Given the description of an element on the screen output the (x, y) to click on. 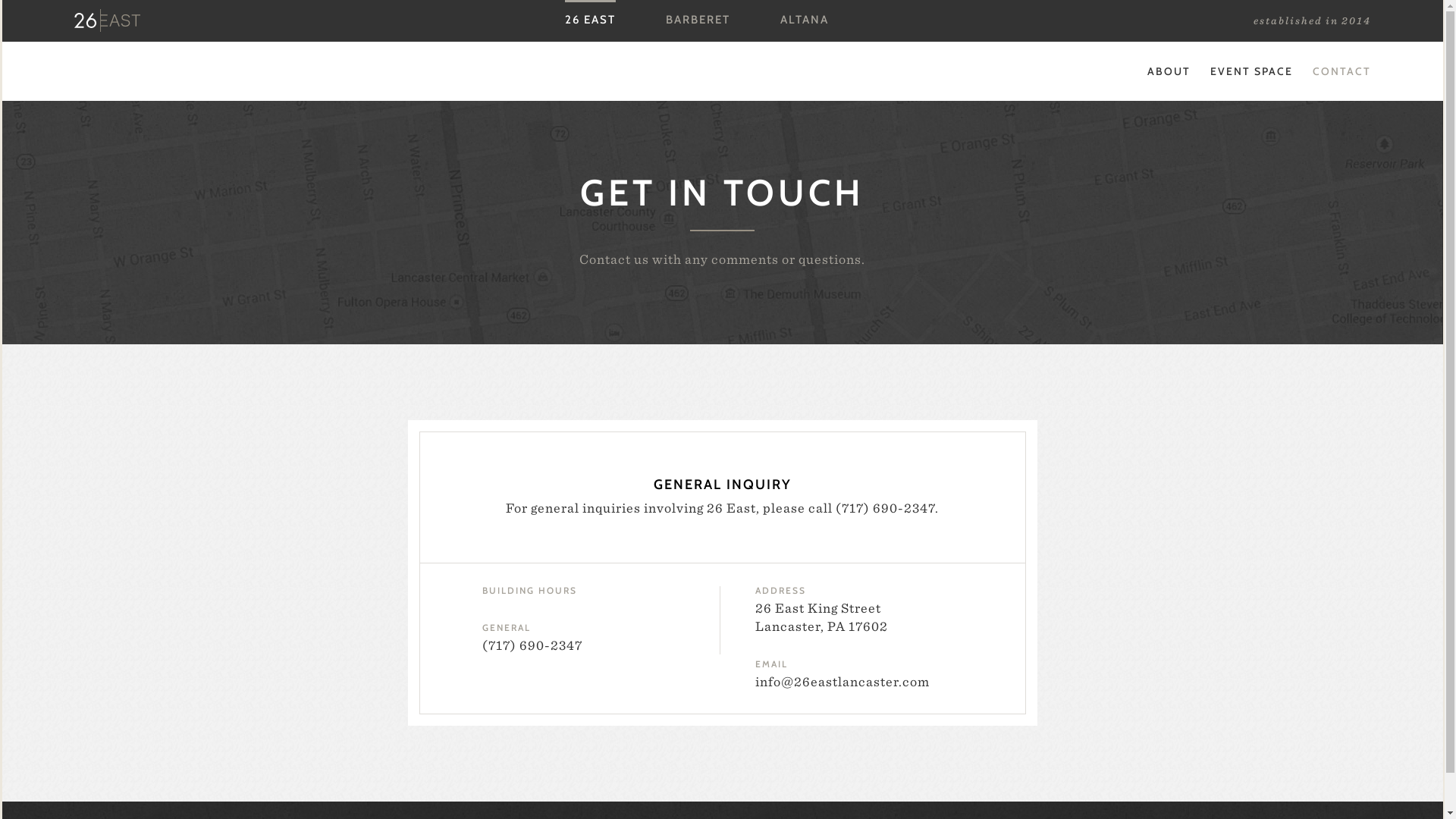
info@26eastlancaster.com Element type: text (842, 681)
ABOUT Element type: text (1167, 71)
ALTANA Element type: text (804, 19)
EVENT SPACE Element type: text (1251, 71)
26 EAST Element type: text (589, 19)
BARBERET Element type: text (697, 19)
CONTACT Element type: text (1340, 71)
